Given the description of an element on the screen output the (x, y) to click on. 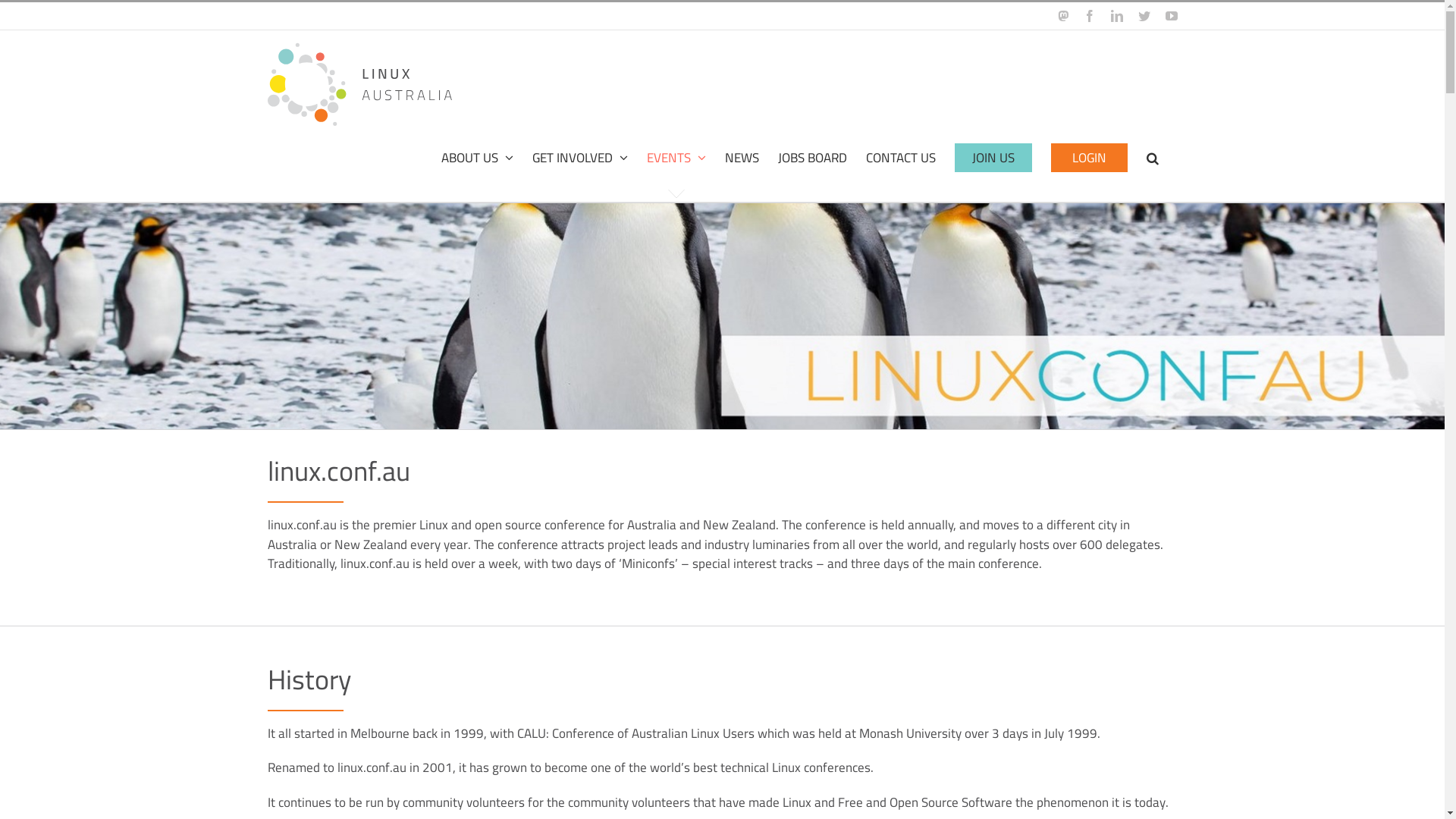
LOGIN Element type: text (1089, 157)
JOIN US Element type: text (992, 157)
Search Element type: hover (1152, 157)
Facebook Element type: text (1088, 15)
CONTACT US Element type: text (900, 157)
LinkedIn Element type: text (1116, 15)
GET INVOLVED Element type: text (579, 157)
ABOUT US Element type: text (477, 157)
JOBS BOARD Element type: text (812, 157)
Mastodon Element type: text (1062, 15)
EVENTS Element type: text (675, 157)
YouTube Element type: text (1170, 15)
NEWS Element type: text (741, 157)
Twitter Element type: text (1143, 15)
